Given the description of an element on the screen output the (x, y) to click on. 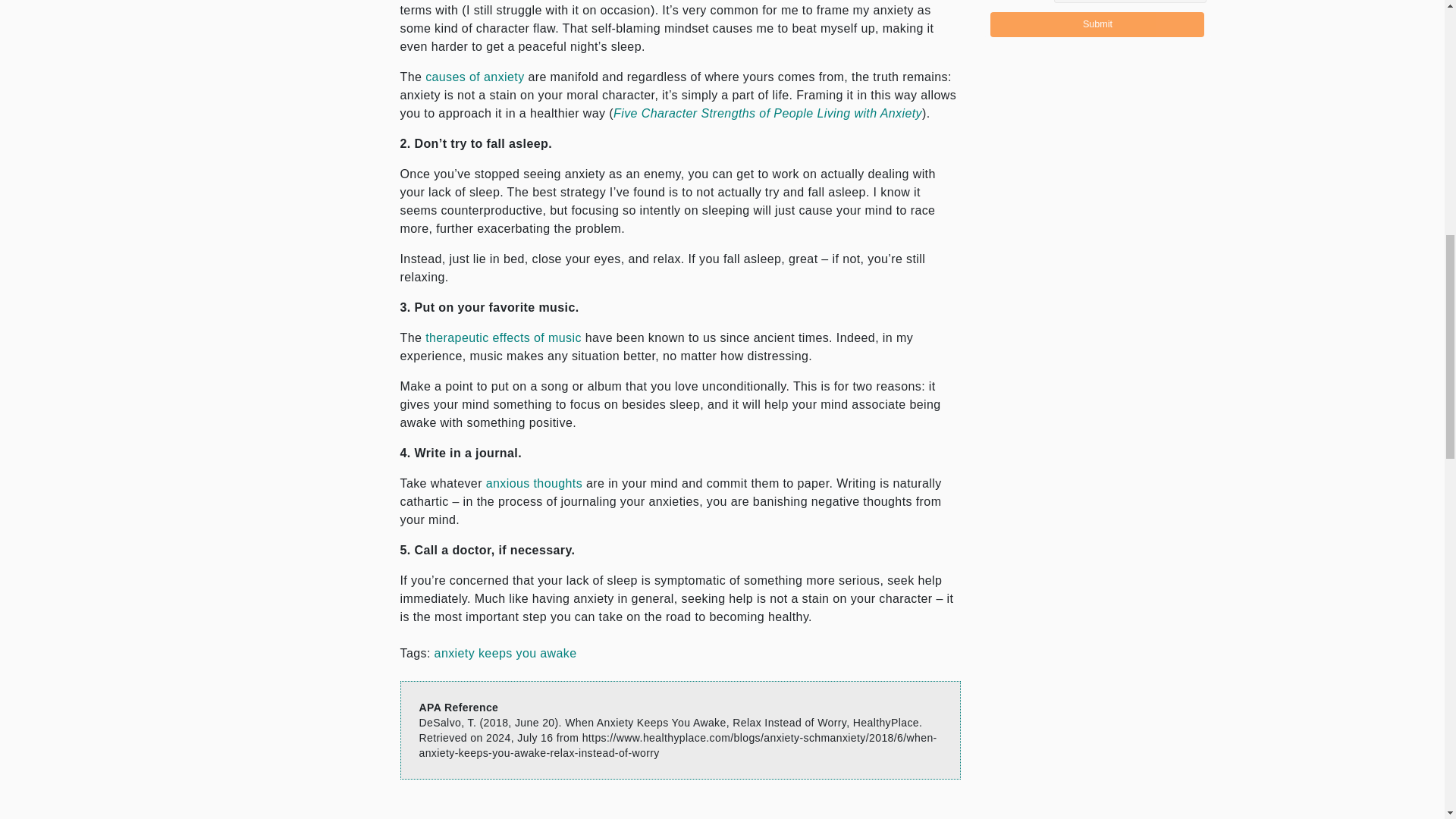
Music Therapy for Treatment of Psychiatric Disorders (502, 337)
Submit (1097, 24)
Calm Anxious Negative Thoughts in Seconds (534, 482)
Anxiety Causes: What Causes Anxiety (474, 76)
